Given the description of an element on the screen output the (x, y) to click on. 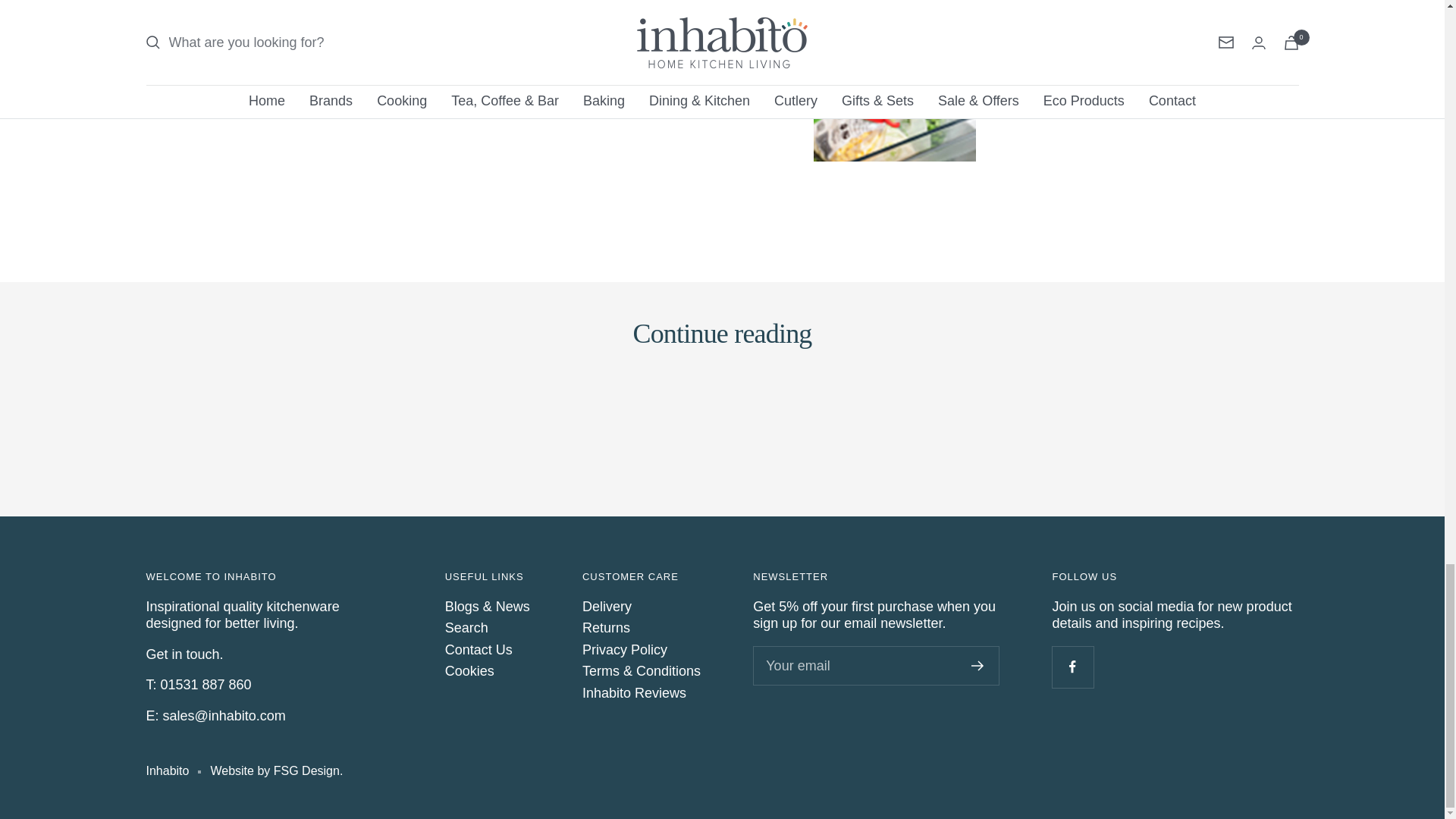
Register (977, 665)
Eco Bag Clips (549, 50)
Eco Food Ties (894, 114)
Kilo Oven Liner (722, 50)
